Given the description of an element on the screen output the (x, y) to click on. 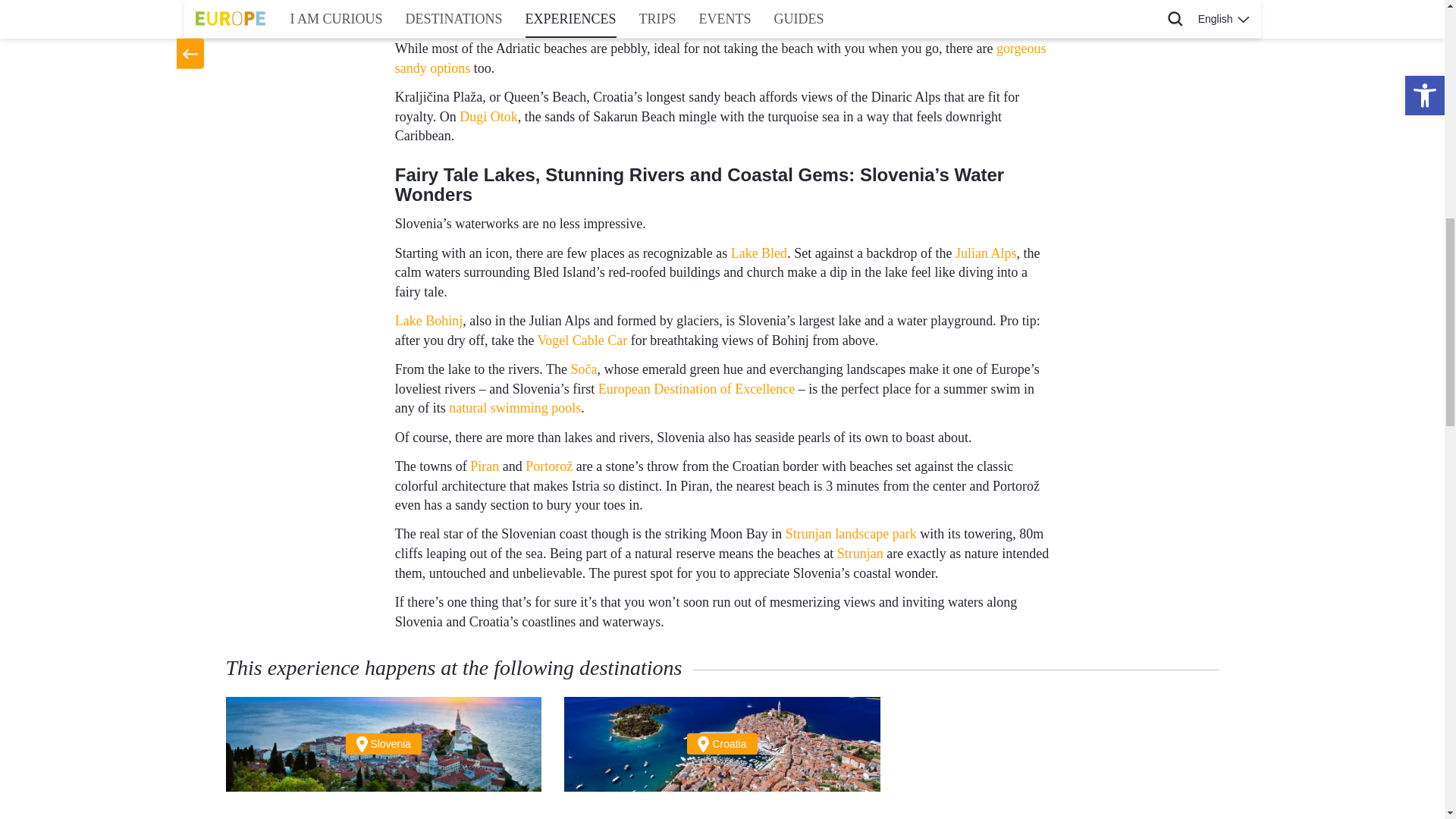
gorgeous sandy options (720, 58)
European Destination of Excellence (696, 388)
Piran (484, 466)
natural swimming pools (514, 407)
Lake Bled (758, 253)
Julian Alps (985, 253)
Dugi Otok (489, 116)
Lake Bohinj (428, 320)
Dubrovnik (718, 3)
Vogel Cable Car (582, 340)
